Given the description of an element on the screen output the (x, y) to click on. 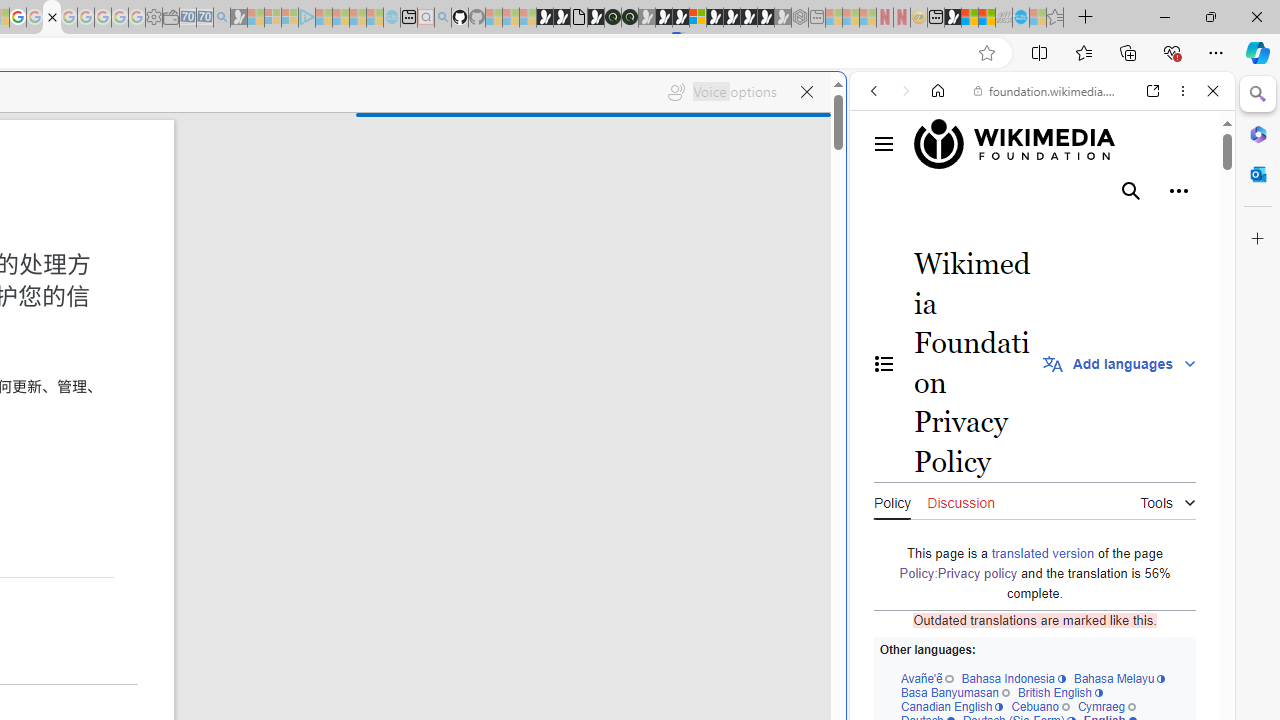
Discussion (960, 500)
WEB   (882, 228)
MSN (952, 17)
British English (1060, 691)
Wallet - Sleeping (170, 17)
